Given the description of an element on the screen output the (x, y) to click on. 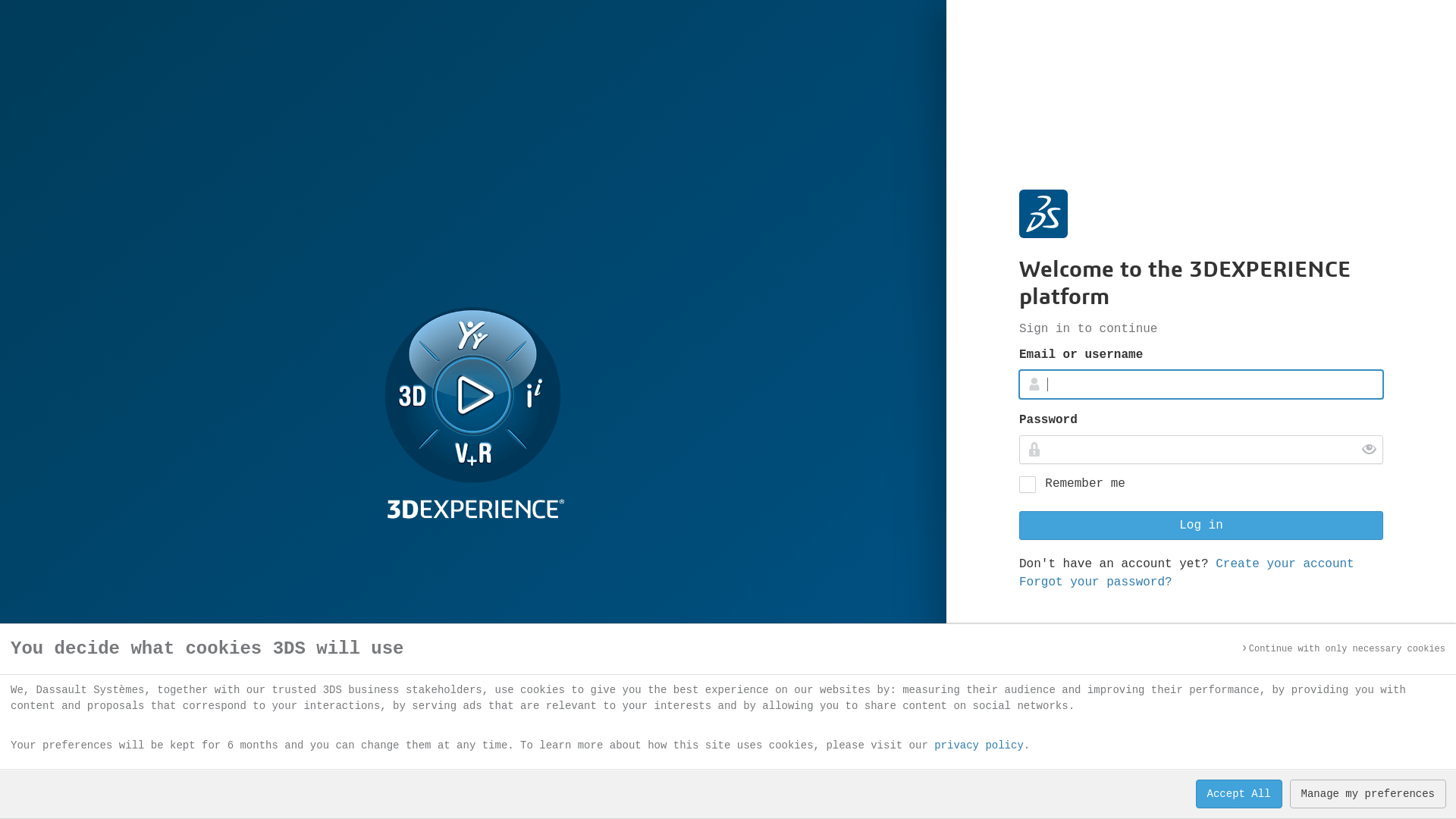
Manage cookies Element type: text (1338, 771)
privacy policy Element type: text (978, 745)
Forgot your password? Element type: text (1095, 581)
English Element type: text (1055, 770)
Accept All Element type: text (1238, 793)
Create your account Element type: text (1284, 563)
Manage my preferences Element type: text (1367, 793)
Log in Element type: text (1201, 525)
